Given the description of an element on the screen output the (x, y) to click on. 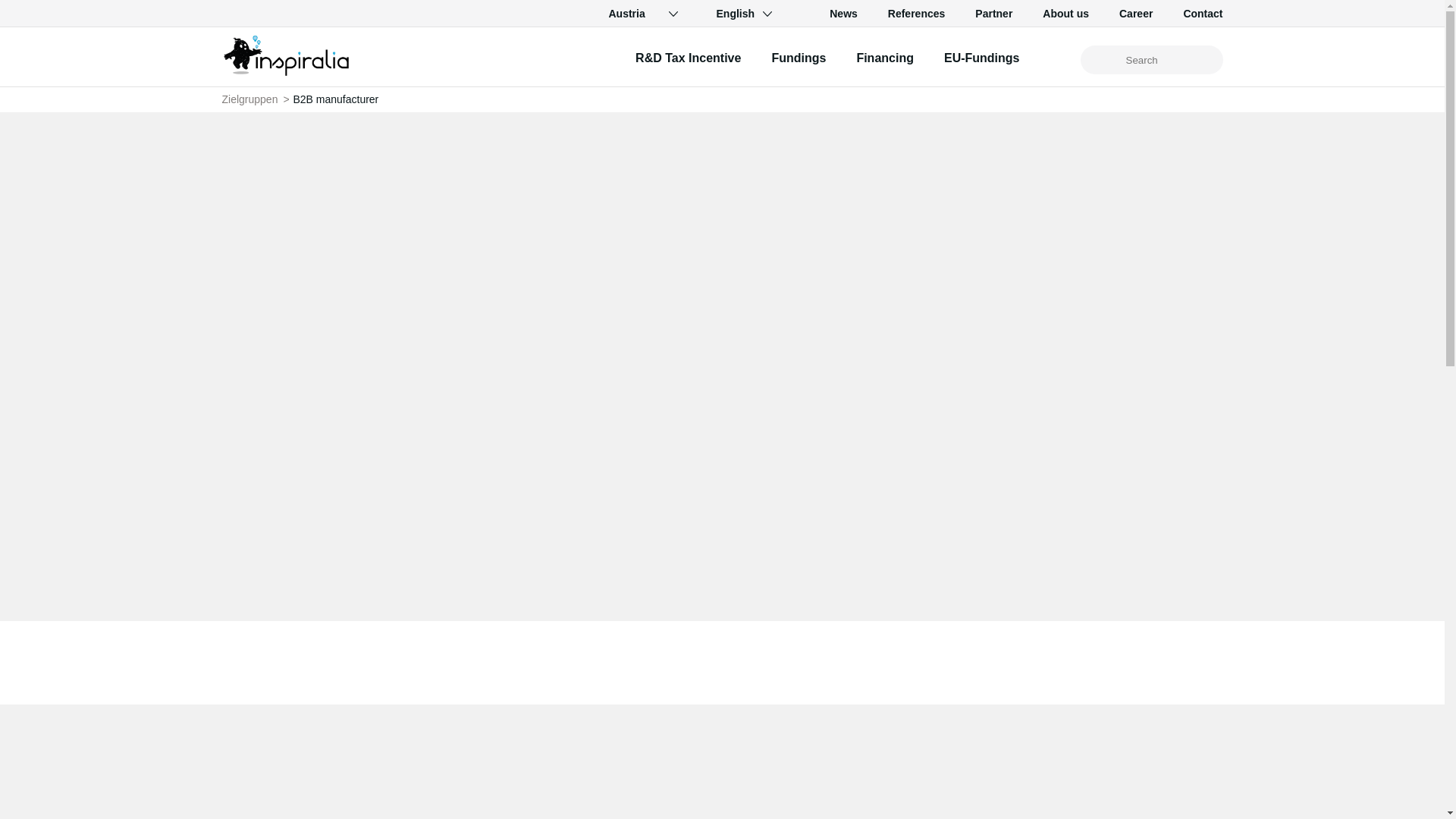
References (916, 13)
English (734, 13)
Partner (993, 13)
Go to Zielgruppen. (249, 99)
Search (1101, 61)
Career (1136, 13)
Search (1101, 61)
Contact (1202, 13)
Search (1101, 61)
About us (1065, 13)
News (843, 13)
